Given the description of an element on the screen output the (x, y) to click on. 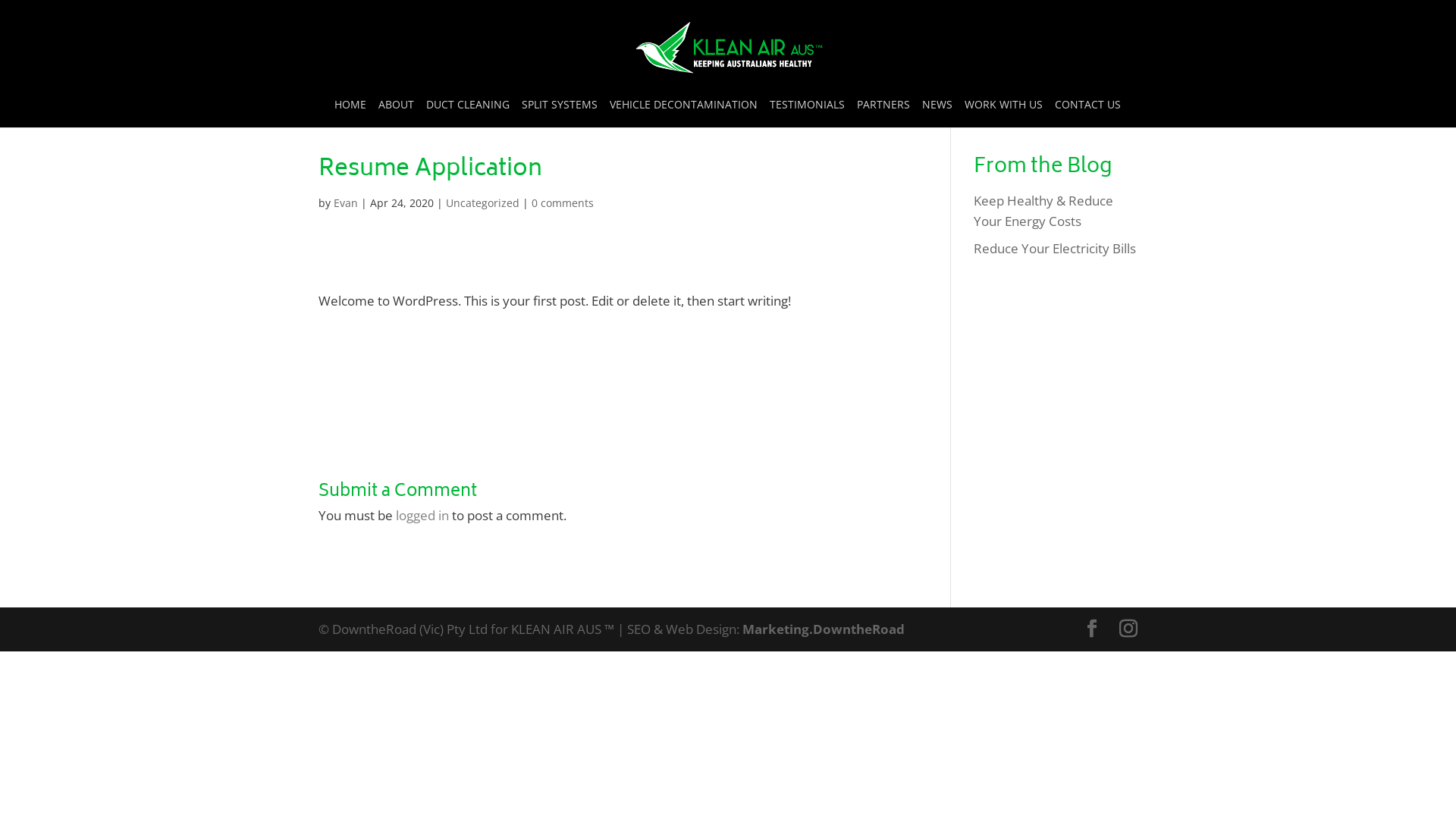
Keep Healthy & Reduce Your Energy Costs Element type: text (1043, 210)
0 comments Element type: text (562, 202)
SPLIT SYSTEMS Element type: text (559, 113)
CONTACT US Element type: text (1087, 113)
VEHICLE DECONTAMINATION Element type: text (683, 113)
Reduce Your Electricity Bills Element type: text (1054, 248)
NEWS Element type: text (937, 113)
TESTIMONIALS Element type: text (806, 113)
logged in Element type: text (421, 515)
HOME Element type: text (349, 113)
Marketing.DowntheRoad Element type: text (823, 628)
PARTNERS Element type: text (883, 113)
Uncategorized Element type: text (482, 202)
Evan Element type: text (345, 202)
WORK WITH US Element type: text (1003, 113)
DUCT CLEANING Element type: text (467, 113)
ABOUT Element type: text (395, 113)
